Given the description of an element on the screen output the (x, y) to click on. 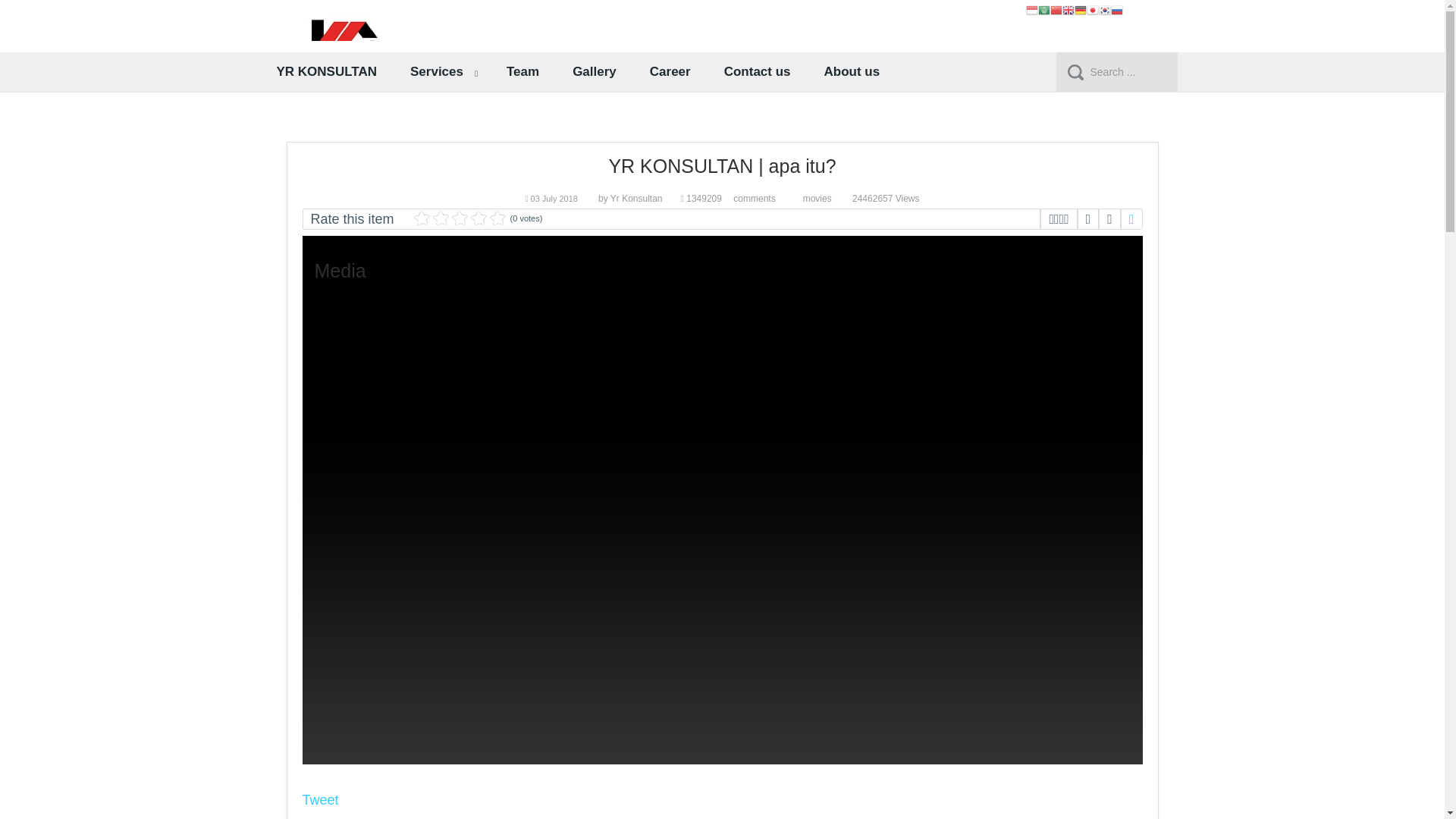
movies (817, 198)
1349209 comments (734, 198)
2 stars out of 5 (430, 218)
Team (522, 71)
YR KONSULTAN (325, 71)
Career (670, 71)
Gallery (594, 71)
5 stars out of 5 (459, 218)
About us (852, 71)
Yr Konsultan (636, 198)
Tweet (319, 799)
Contact us (756, 71)
4 stars out of 5 (449, 218)
3 stars out of 5 (440, 218)
Services (441, 71)
